Given the description of an element on the screen output the (x, y) to click on. 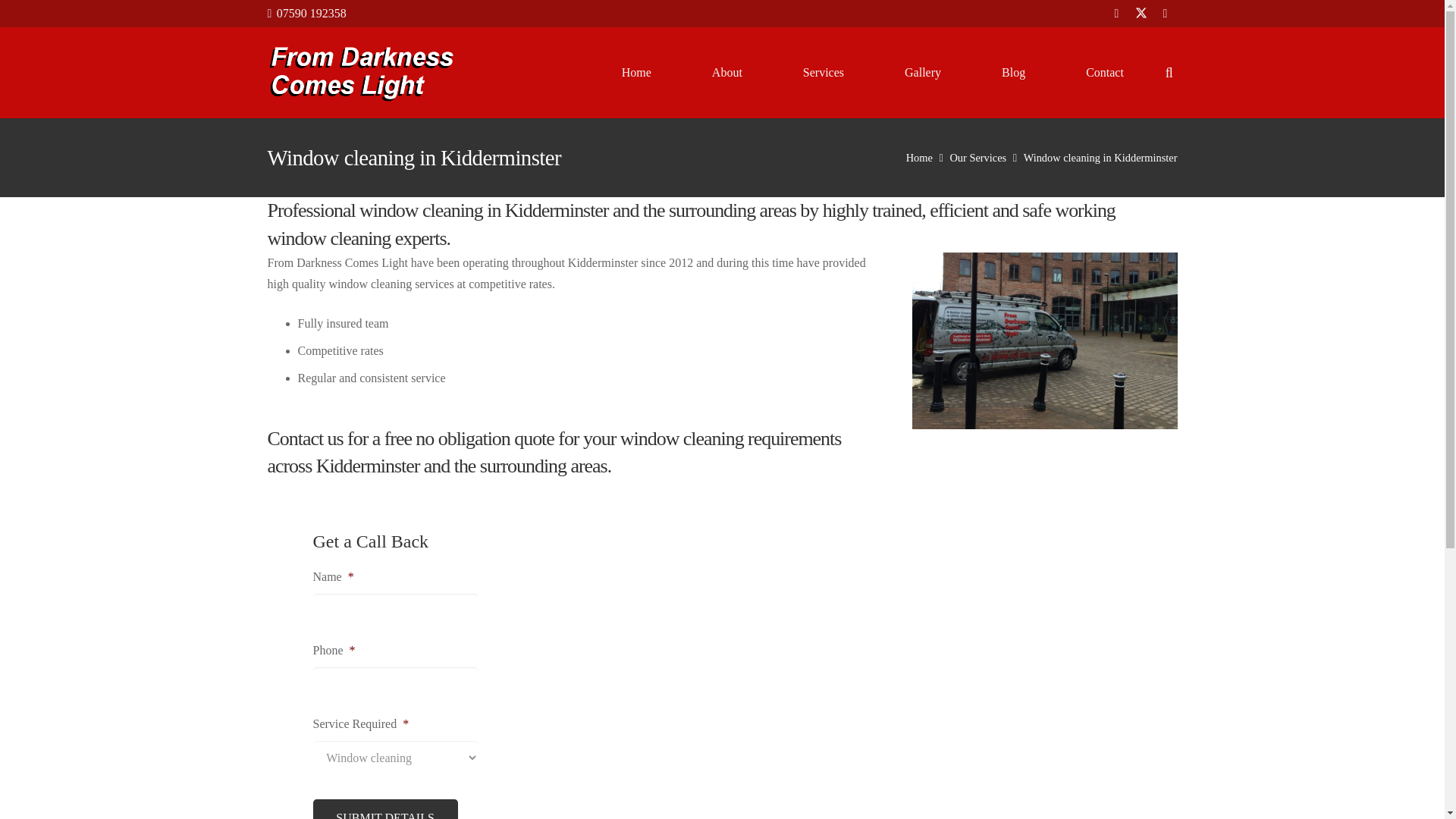
Services (824, 72)
Our Services (977, 157)
Gallery (923, 72)
Submit Details (385, 809)
Blog (1013, 72)
About (727, 72)
Home (636, 72)
Submit Details (385, 809)
Window cleaning in Kidderminster (1100, 157)
Twitter (1141, 13)
Home (919, 157)
RSS (1165, 13)
Contact (1104, 72)
Facebook (1117, 13)
